Given the description of an element on the screen output the (x, y) to click on. 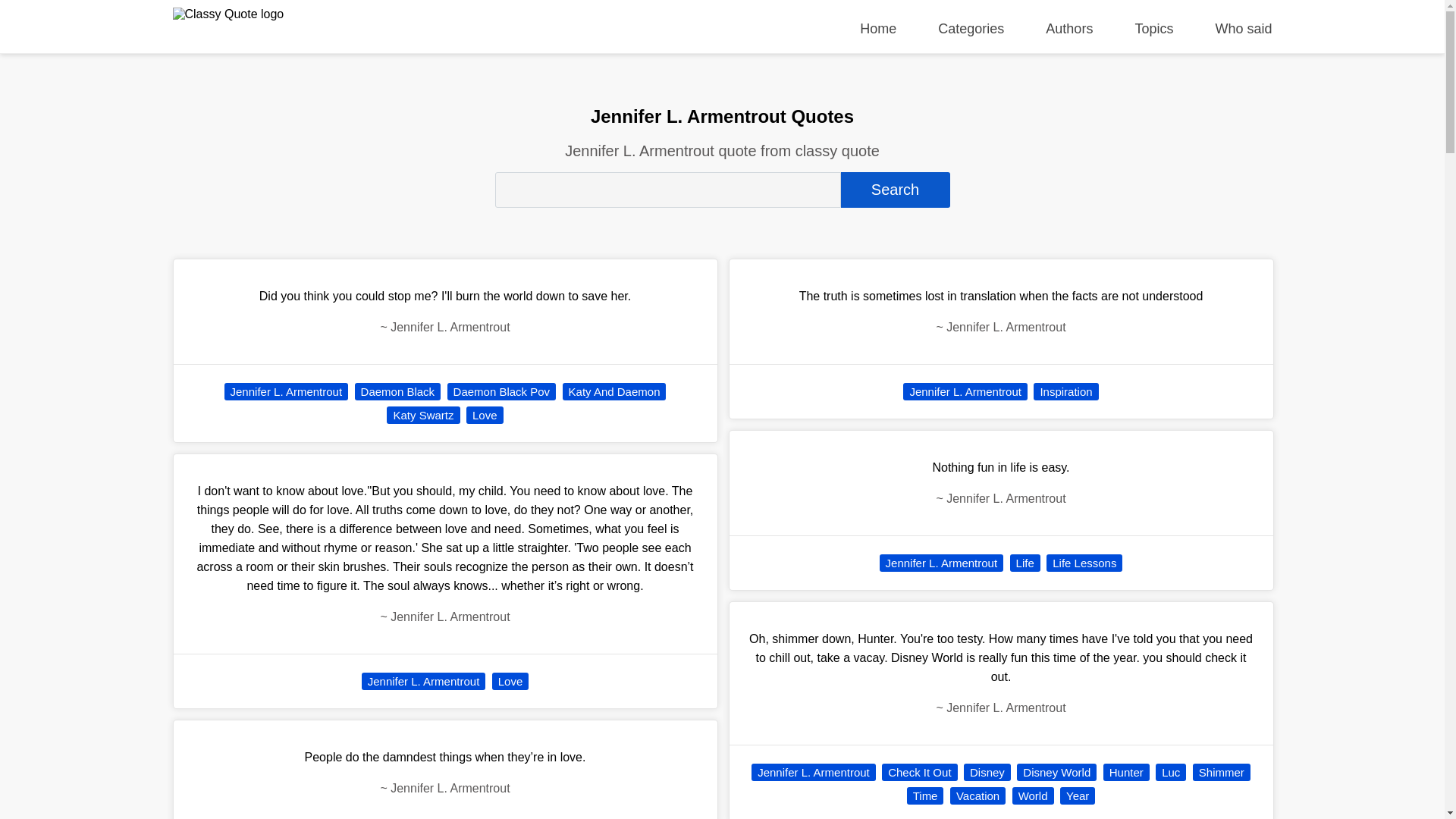
Love (484, 415)
Daemon Black Pov (501, 391)
Home (878, 28)
Jennifer L. Armentrout (286, 391)
Love (510, 681)
Categories (970, 28)
Katy And Daemon (614, 391)
Authors (1069, 28)
Jennifer L. Armentrout (423, 681)
Search (894, 189)
Katy Swartz (423, 415)
Search (894, 189)
Who said (1242, 28)
Search (894, 189)
Topics (1153, 28)
